Given the description of an element on the screen output the (x, y) to click on. 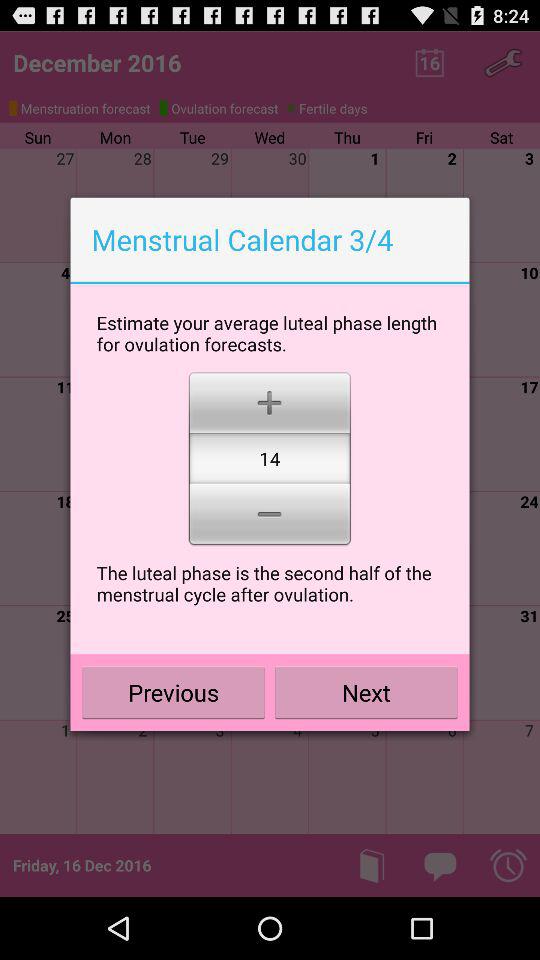
press the previous icon (173, 692)
